Given the description of an element on the screen output the (x, y) to click on. 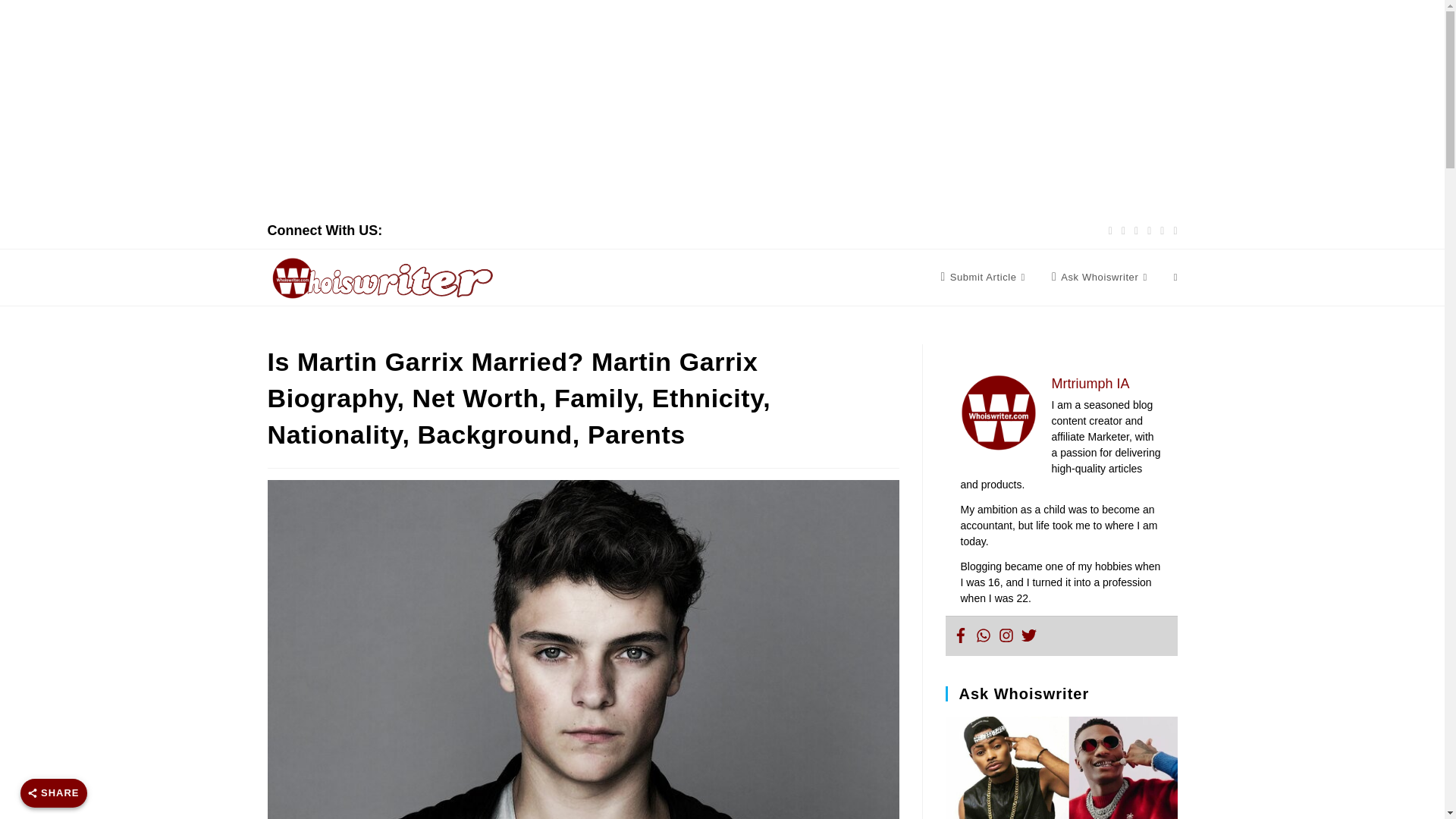
Instagram (1005, 636)
Whatsapp (982, 636)
Submit Article (984, 277)
Twitter (1027, 636)
Ask Whoiswriter (1101, 277)
Facebook (960, 636)
